Given the description of an element on the screen output the (x, y) to click on. 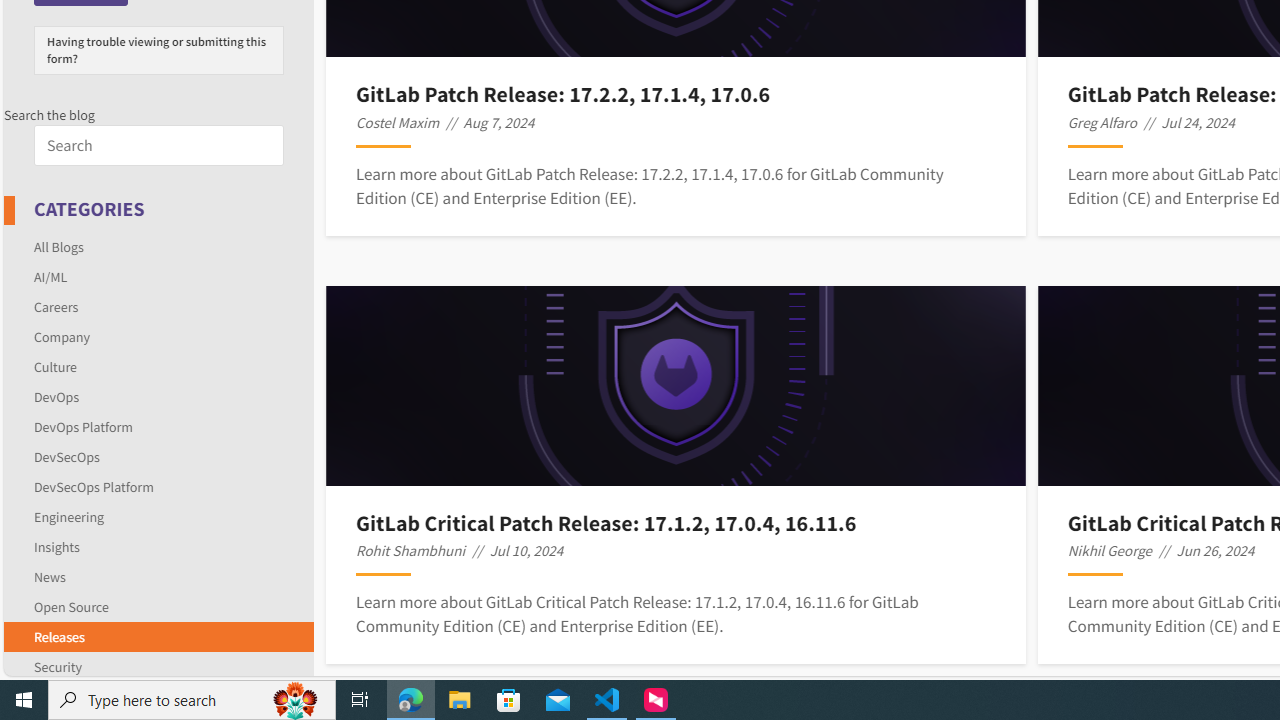
Releases (59, 636)
DevOps (56, 396)
Post Image (676, 385)
Open Source (158, 606)
DevOps Platform (158, 426)
Engineering (69, 515)
Insights (56, 546)
DevSecOps (158, 456)
Company (158, 336)
Open Source (71, 605)
GitLab Critical Patch Release: 17.1.2, 17.0.4, 16.11.6 (675, 522)
AI/ML (158, 276)
Nikhil George (1109, 550)
DevSecOps Platform (158, 485)
DevOps Platform (83, 425)
